Given the description of an element on the screen output the (x, y) to click on. 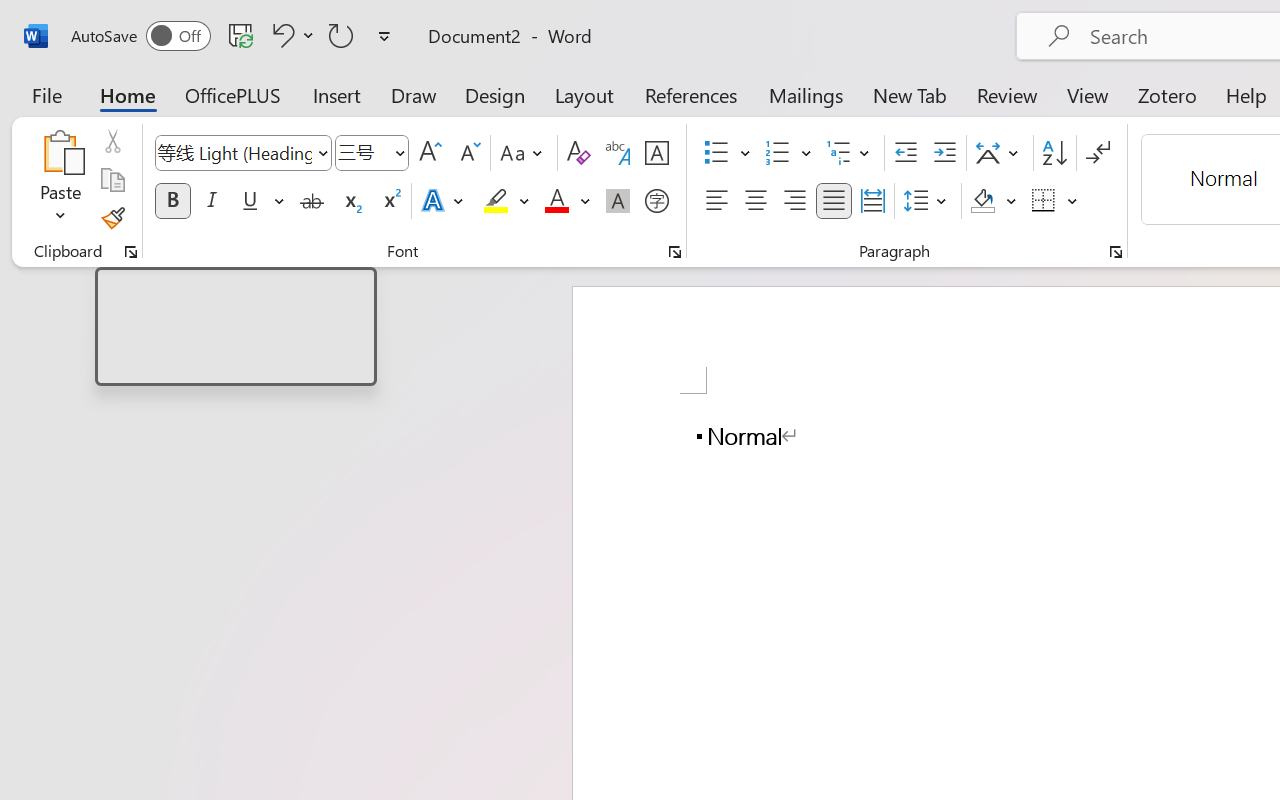
Subscript (350, 201)
Justify (834, 201)
Paste (60, 179)
